Given the description of an element on the screen output the (x, y) to click on. 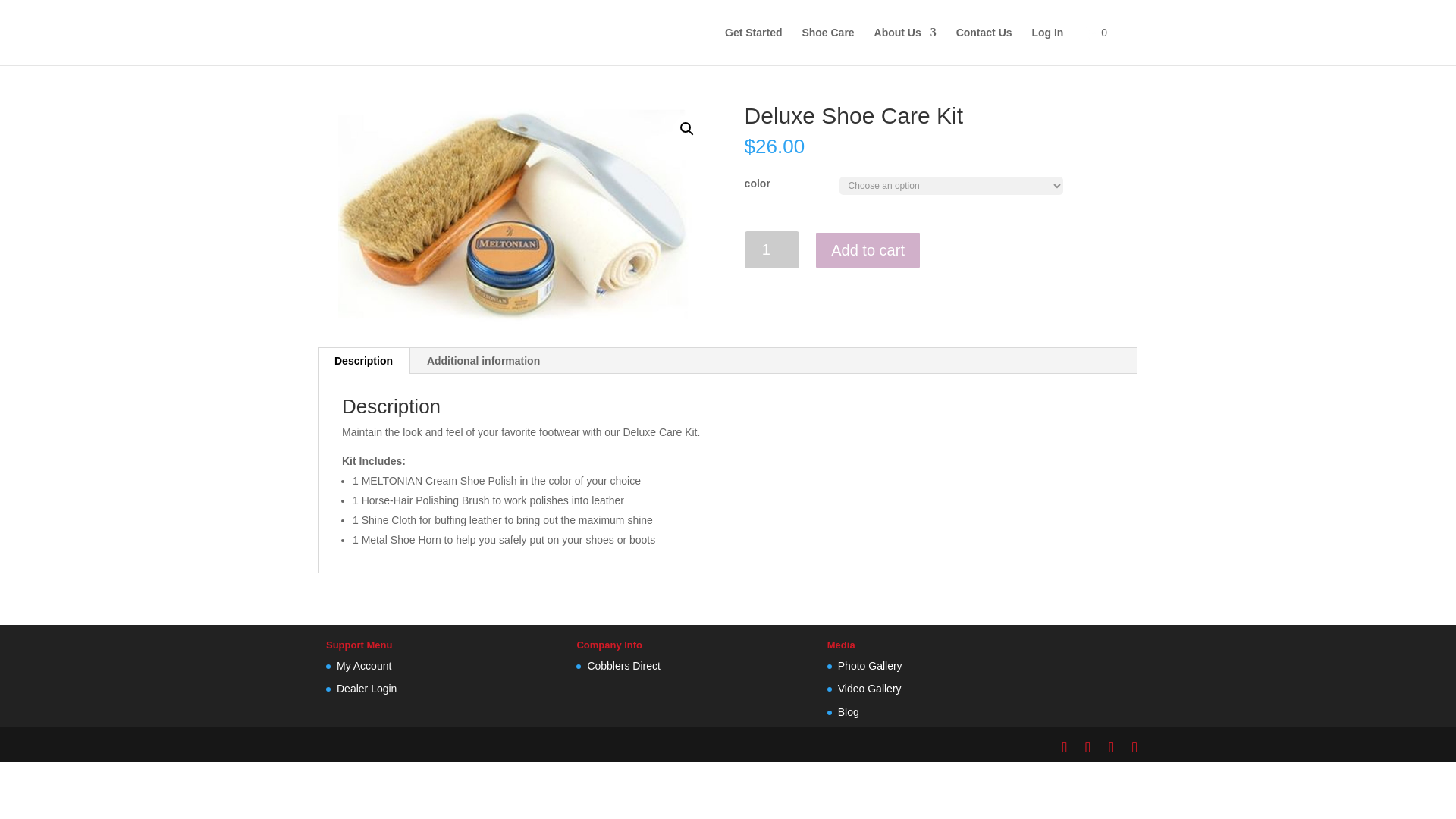
Qty (771, 249)
About Us (905, 45)
Shoe Care (827, 45)
Log In (1046, 45)
Contact Us (983, 45)
1 (771, 249)
Get Started (753, 45)
Deluxe Shoe Care Kit 1 (514, 214)
